Given the description of an element on the screen output the (x, y) to click on. 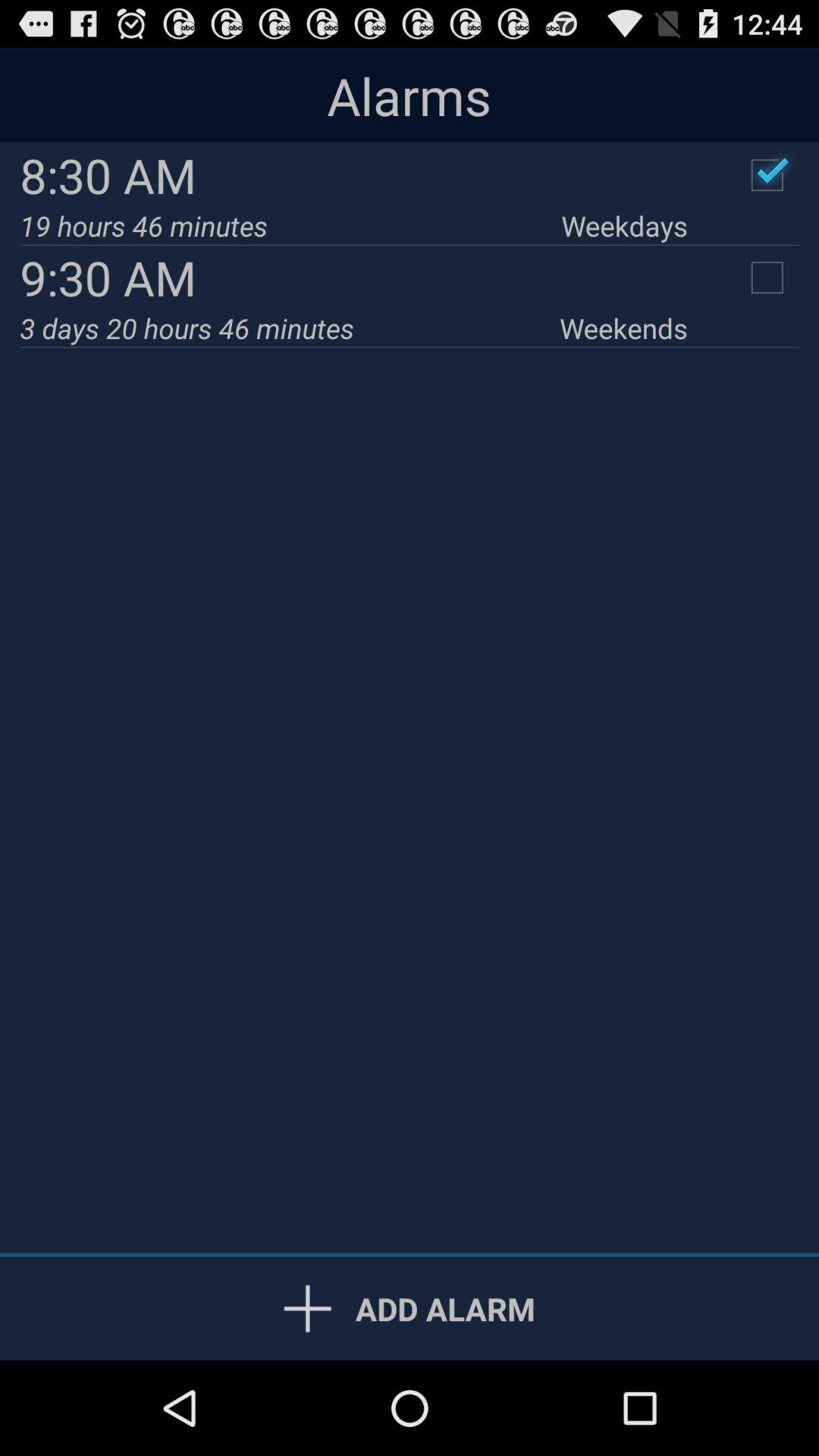
select icon below the 9:30 am (289, 327)
